Given the description of an element on the screen output the (x, y) to click on. 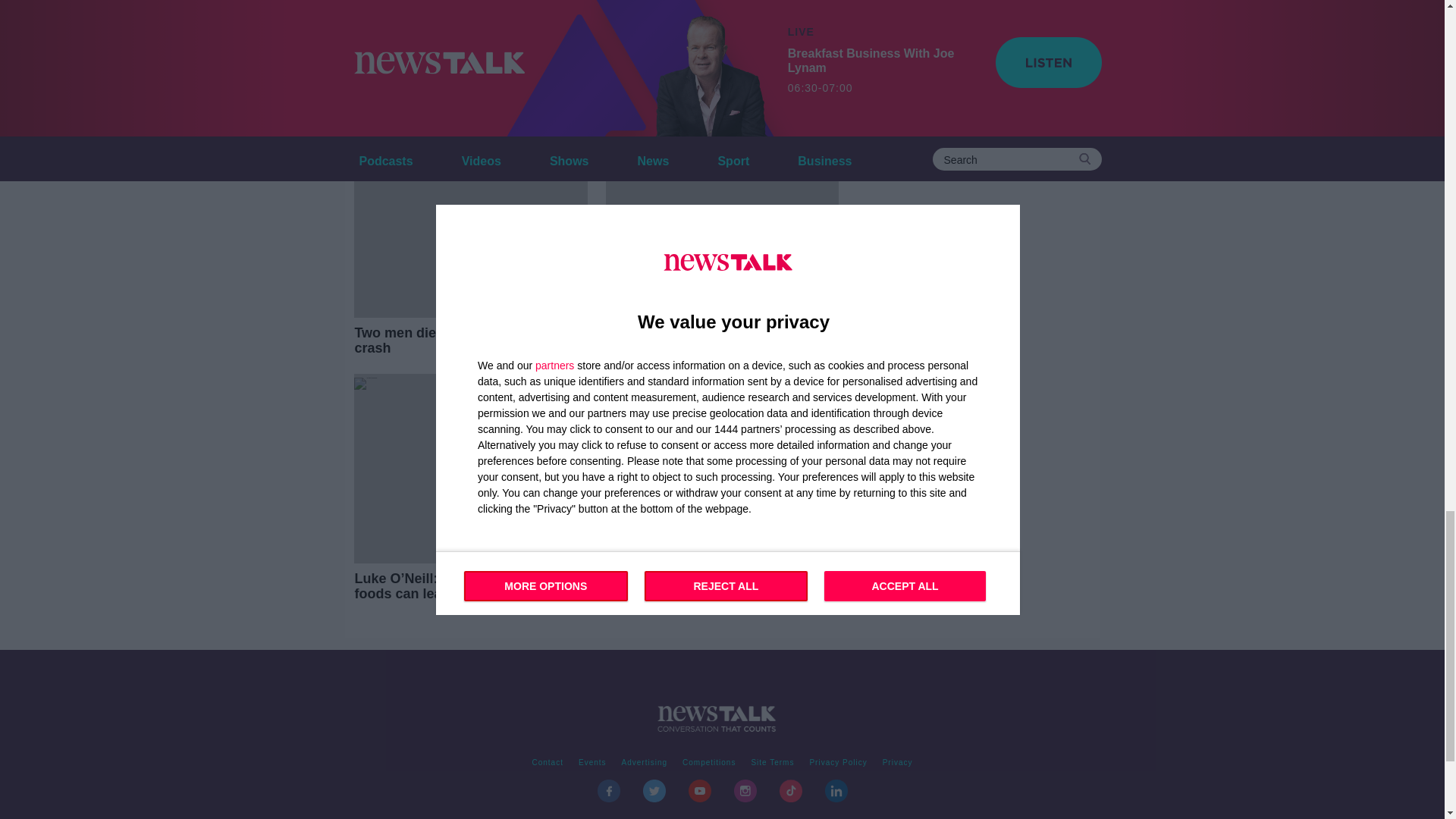
events (592, 762)
contact (547, 762)
Privacy (897, 762)
CANCER (383, 5)
Privacy Policy (838, 762)
competitions (708, 762)
CANCER SUPPORT (485, 5)
advertising (644, 762)
site terms (772, 762)
CHARITY (587, 5)
DUBLIN (660, 5)
